Given the description of an element on the screen output the (x, y) to click on. 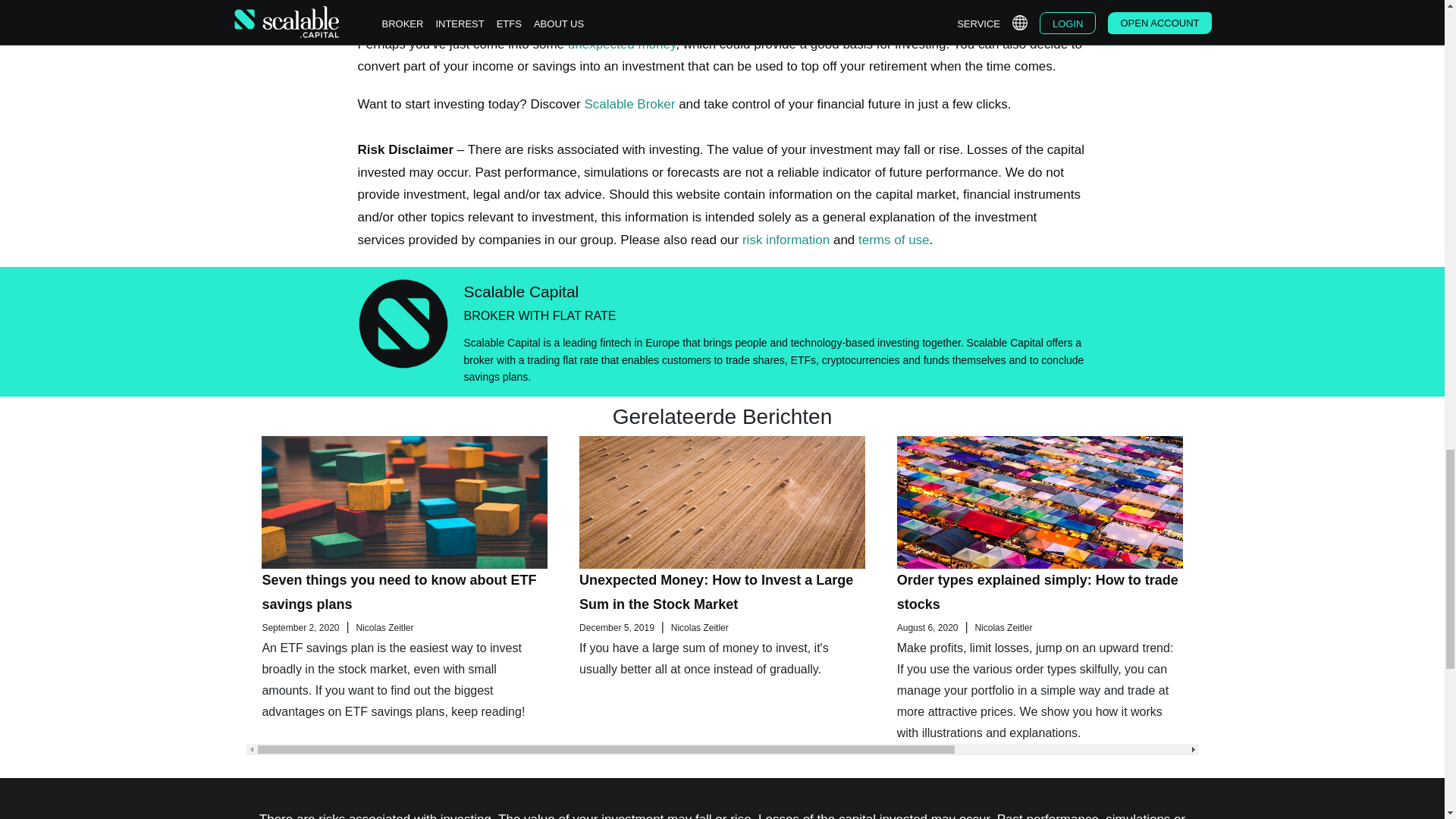
risk information (785, 239)
unexpected money (621, 43)
Start investing with the Scalable Broker (629, 104)
Scalable Broker (629, 104)
Seven things you need to know about ETF savings plans (398, 591)
terms of use (894, 239)
